Given the description of an element on the screen output the (x, y) to click on. 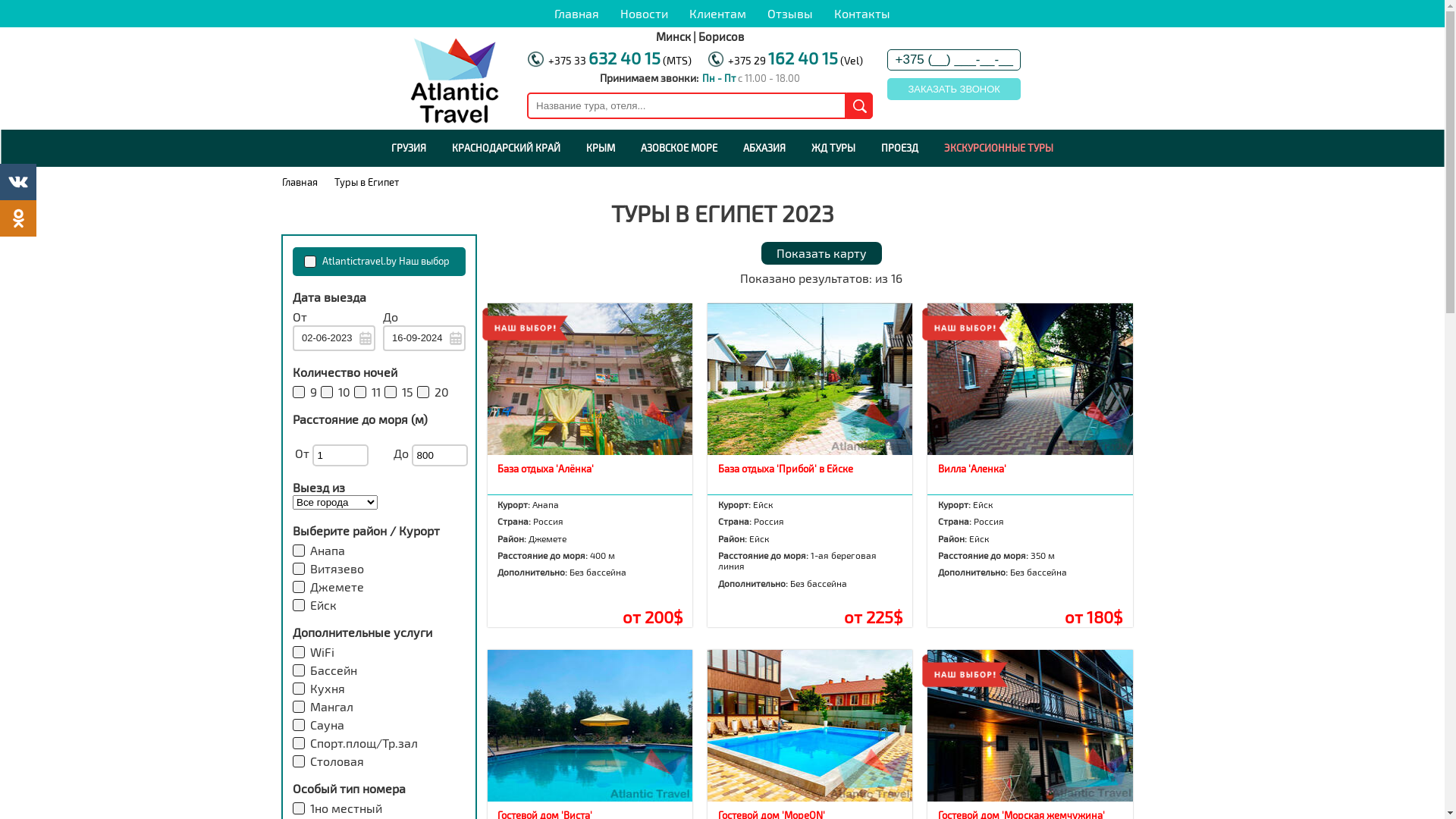
+375 29 162 40 15 (Vel) Element type: text (795, 59)
Atlantic Travel Element type: hover (454, 78)
+375 33 632 40 15 (MTS) Element type: text (619, 59)
VKontakte Element type: text (18, 181)
